Given the description of an element on the screen output the (x, y) to click on. 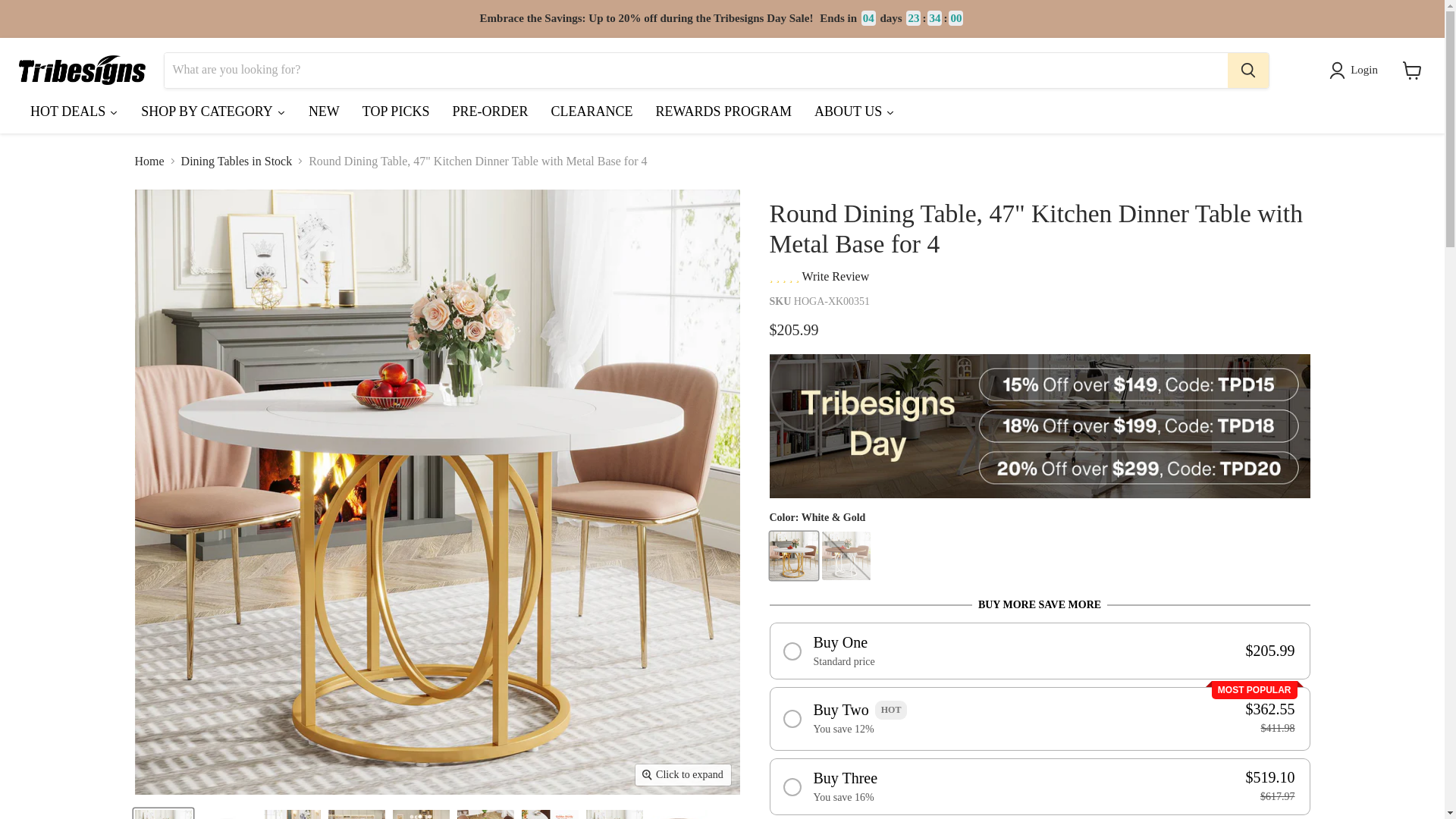
SHOP BY CATEGORY (213, 114)
SHOP BY CATEGORY (213, 114)
NEW (323, 114)
HOT DEALS (73, 114)
HOT DEALS (73, 114)
TOP PICKS (395, 114)
Dining Tables in Stock (236, 161)
CLEARANCE (590, 114)
ABOUT US (854, 114)
Click to expand (682, 774)
Login (1356, 69)
Home (149, 161)
NEW (323, 114)
PRE-ORDER (489, 114)
ABOUT US (854, 114)
